Given the description of an element on the screen output the (x, y) to click on. 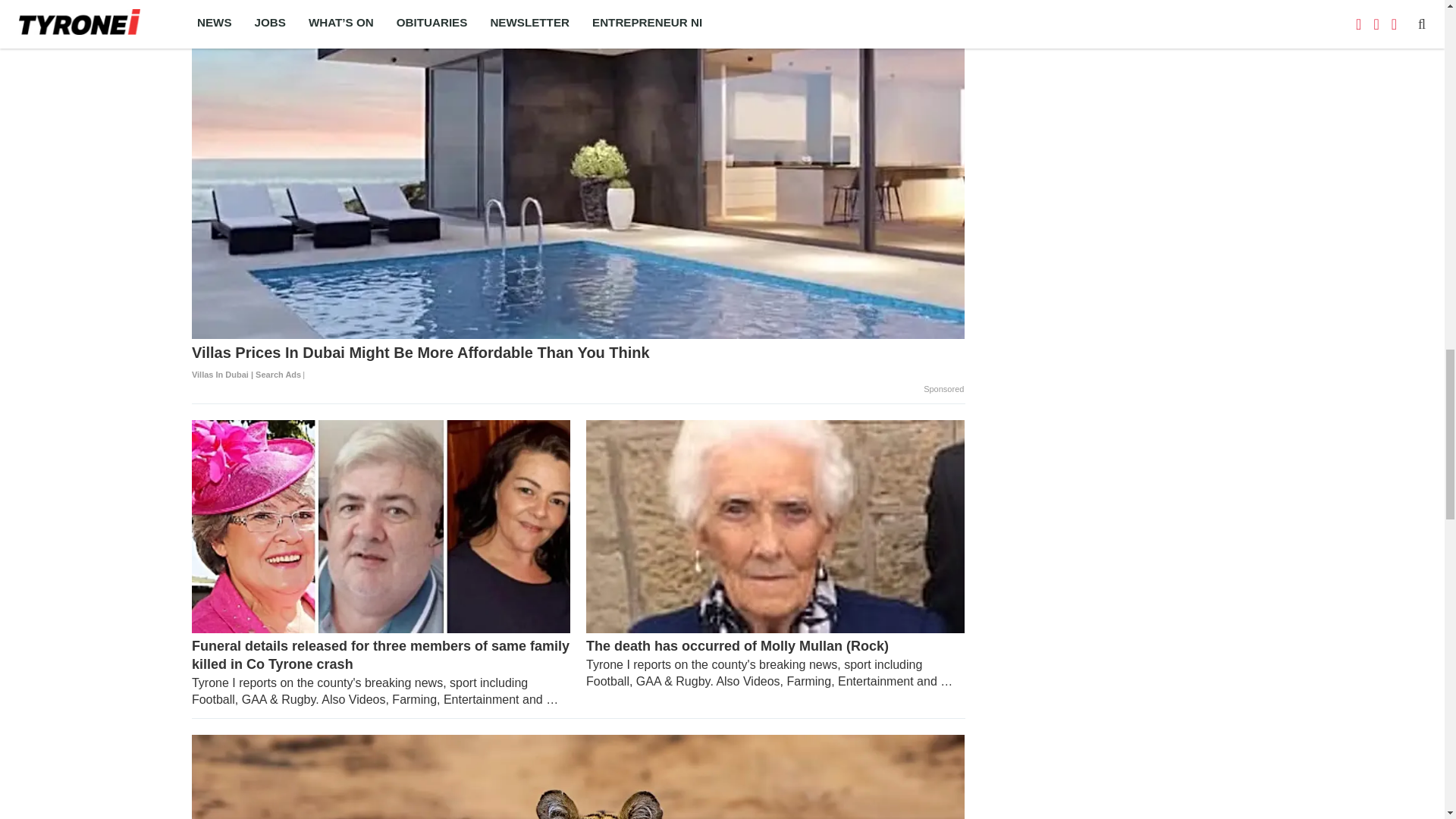
Sponsored (943, 389)
